Given the description of an element on the screen output the (x, y) to click on. 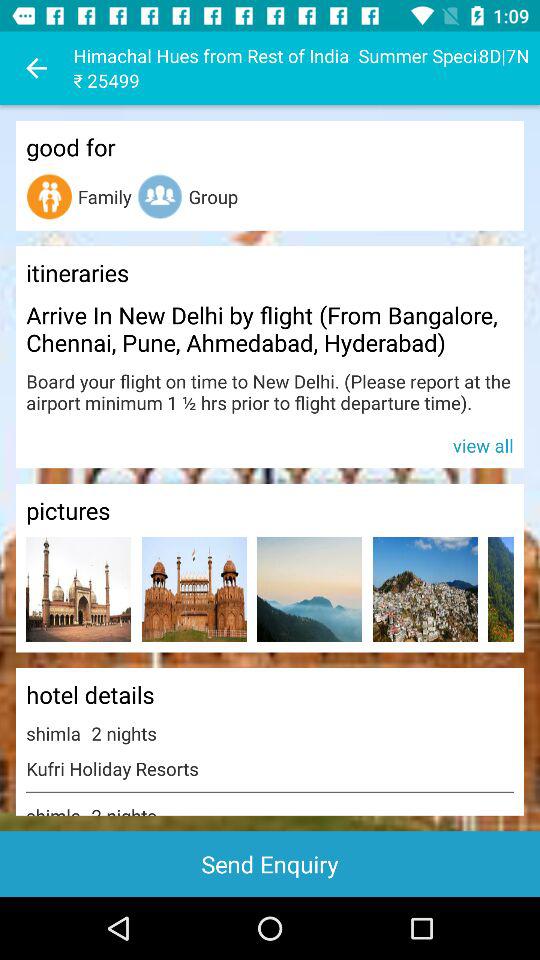
expand image (500, 589)
